Given the description of an element on the screen output the (x, y) to click on. 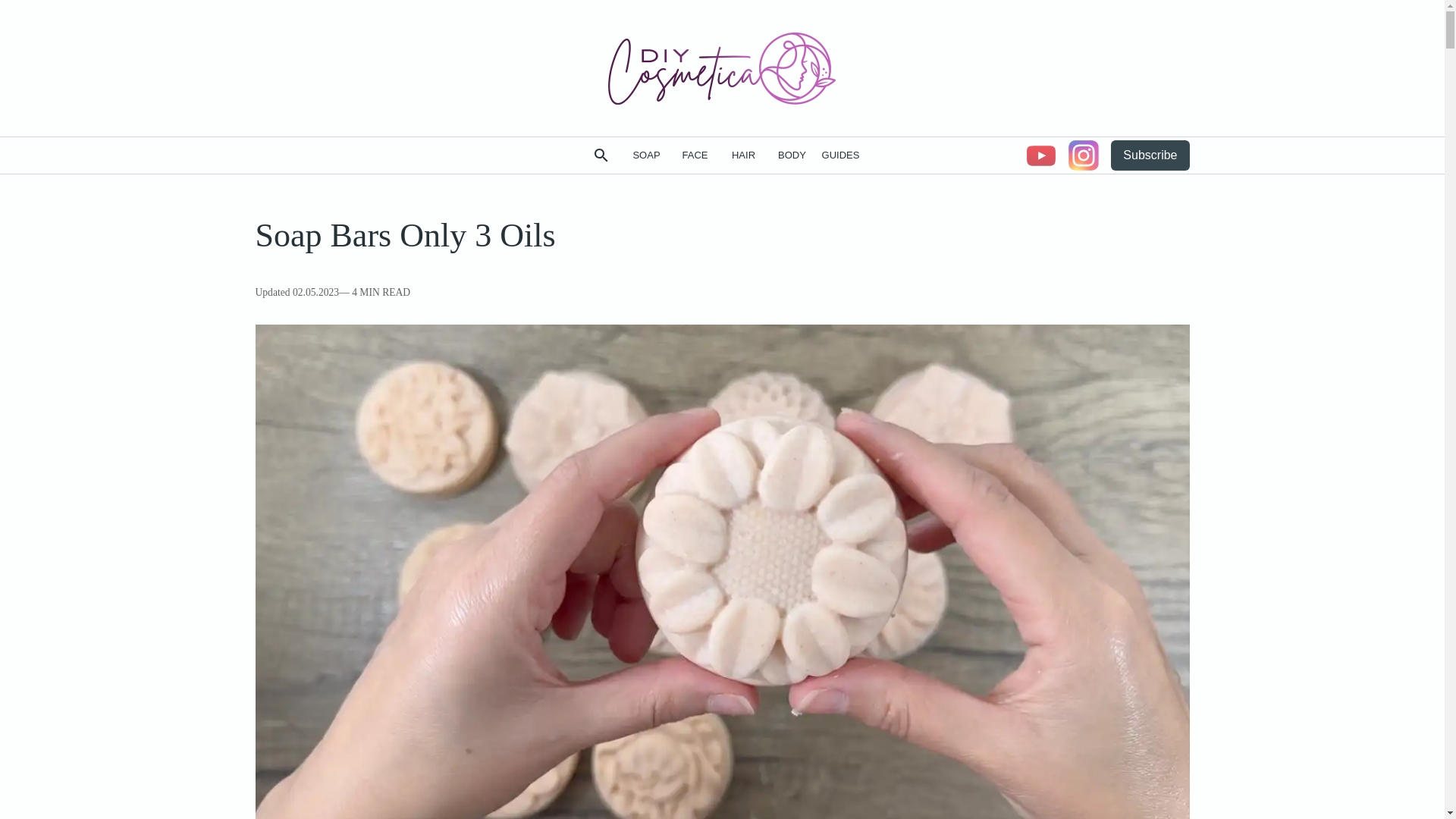
SOAP (645, 155)
HAIR (743, 155)
BODY (791, 155)
FACE (694, 155)
Subscribe (1149, 155)
GUIDES (839, 155)
